Given the description of an element on the screen output the (x, y) to click on. 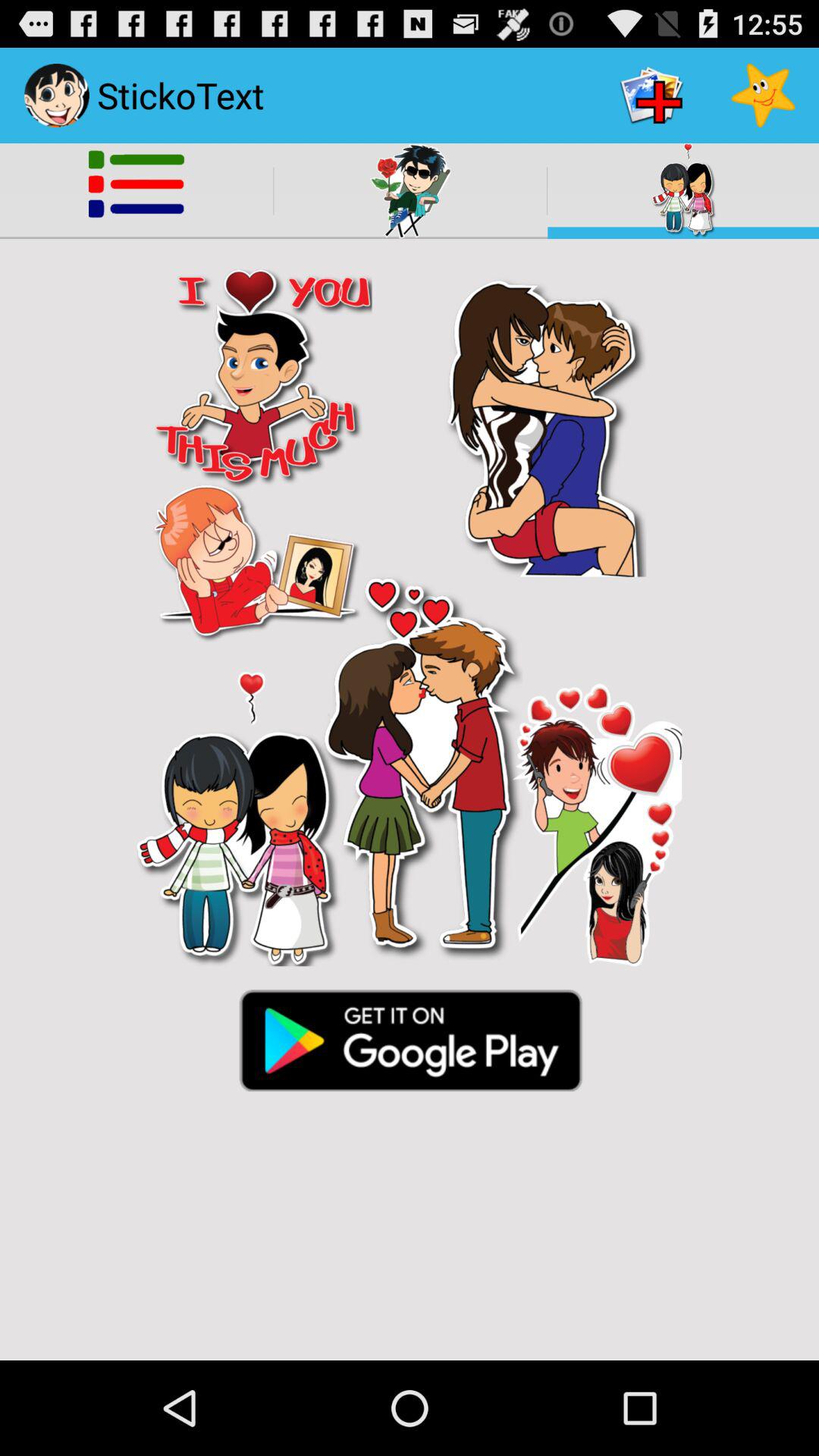
its a google play button which you click it to get the app from google play (409, 1038)
